Given the description of an element on the screen output the (x, y) to click on. 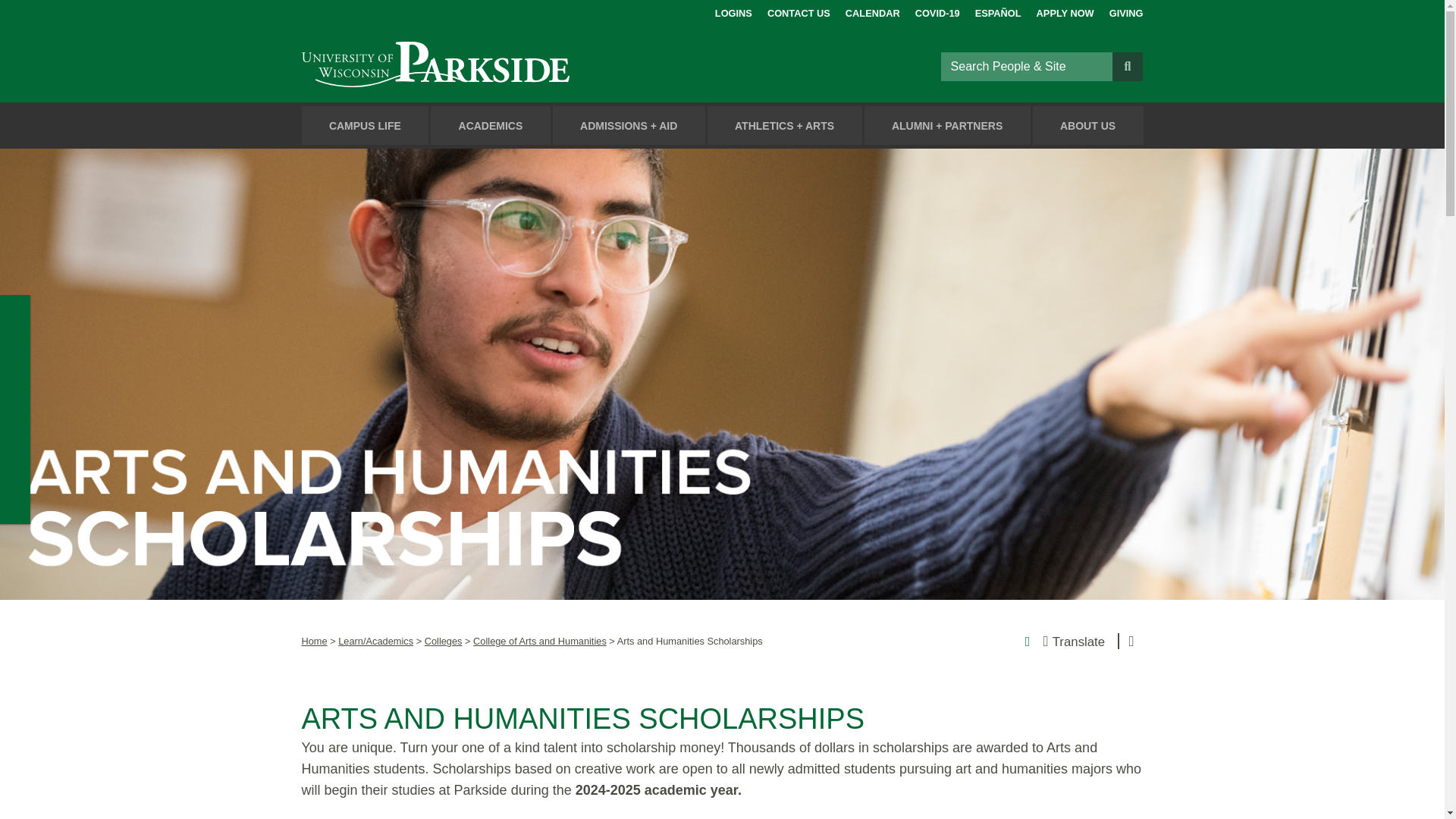
CAMPUS LIFE (365, 125)
Submit (1127, 65)
LOGINS (733, 11)
COVID-19 (937, 11)
APPLY NOW (1065, 11)
CALENDAR (872, 11)
GIVING (1125, 11)
University of Wisconsin-Parkside (470, 66)
Skip to main content (18, 14)
CONTACT US (798, 11)
University of Wisconsin-Parkside (470, 66)
